Given the description of an element on the screen output the (x, y) to click on. 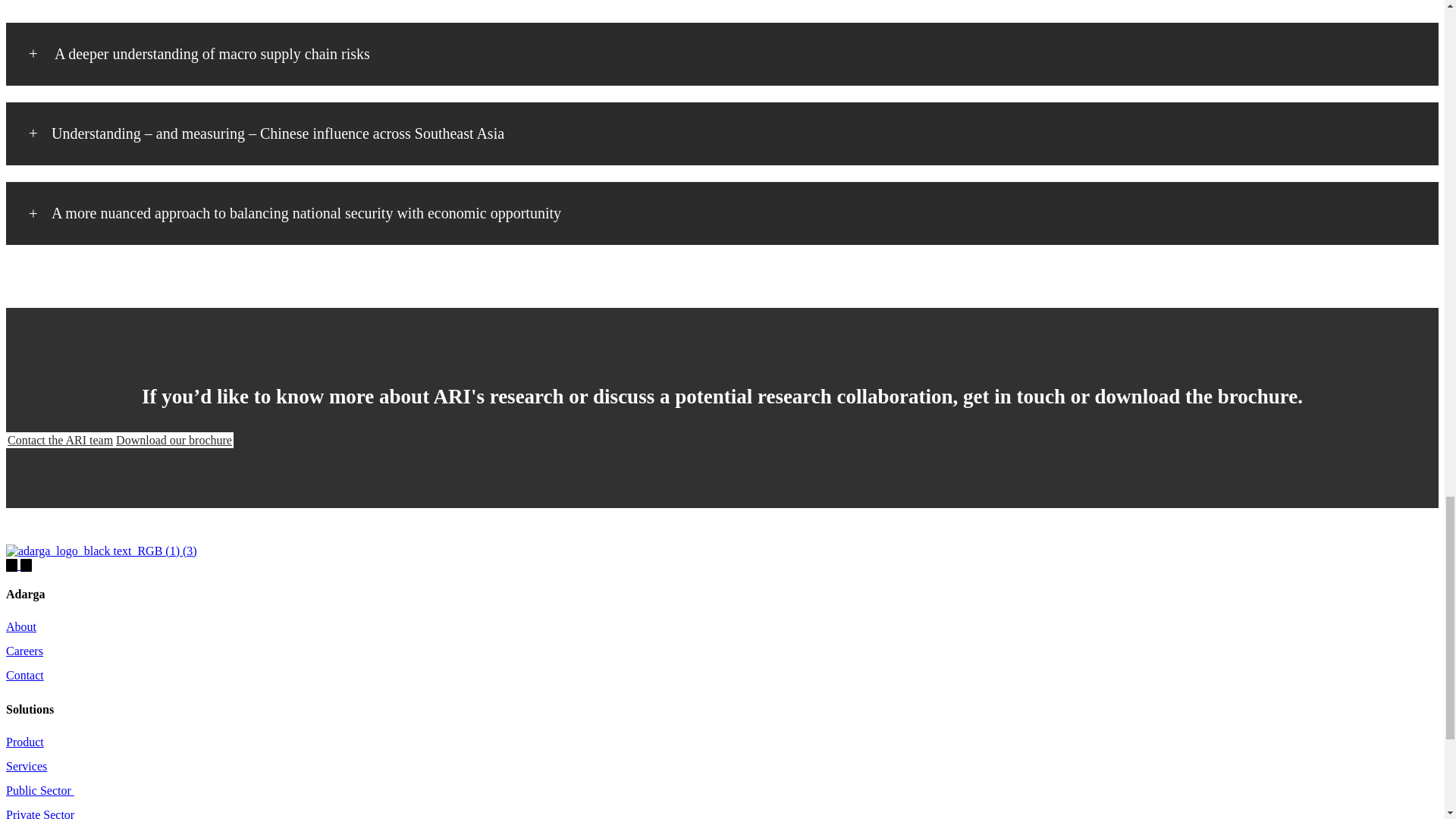
linkedin-in icon (12, 564)
twitter icon (26, 563)
Contact the ARI team (60, 439)
linkedin-in icon (11, 563)
Download our brochure (173, 439)
